Given the description of an element on the screen output the (x, y) to click on. 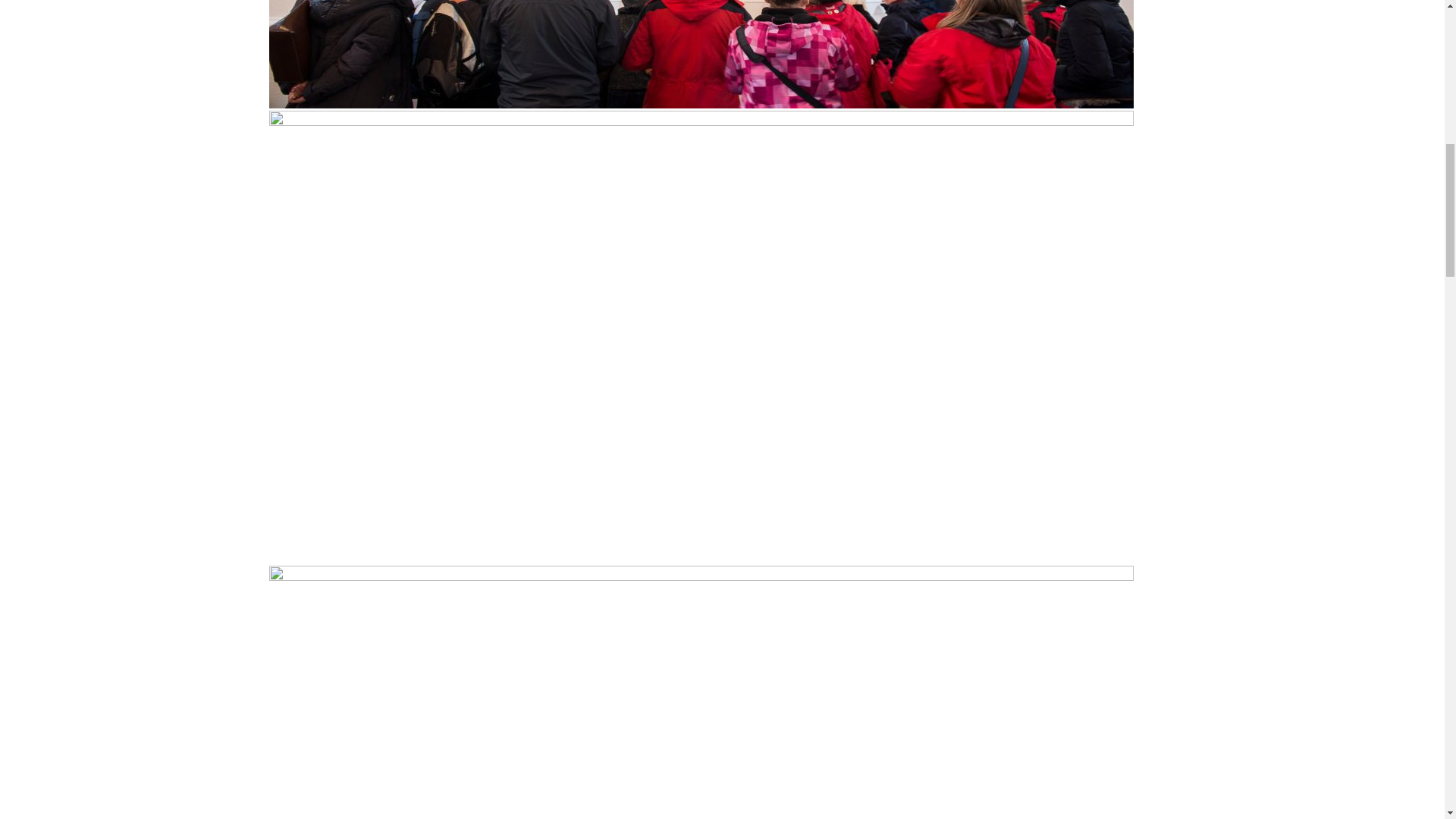
1 (701, 54)
